Given the description of an element on the screen output the (x, y) to click on. 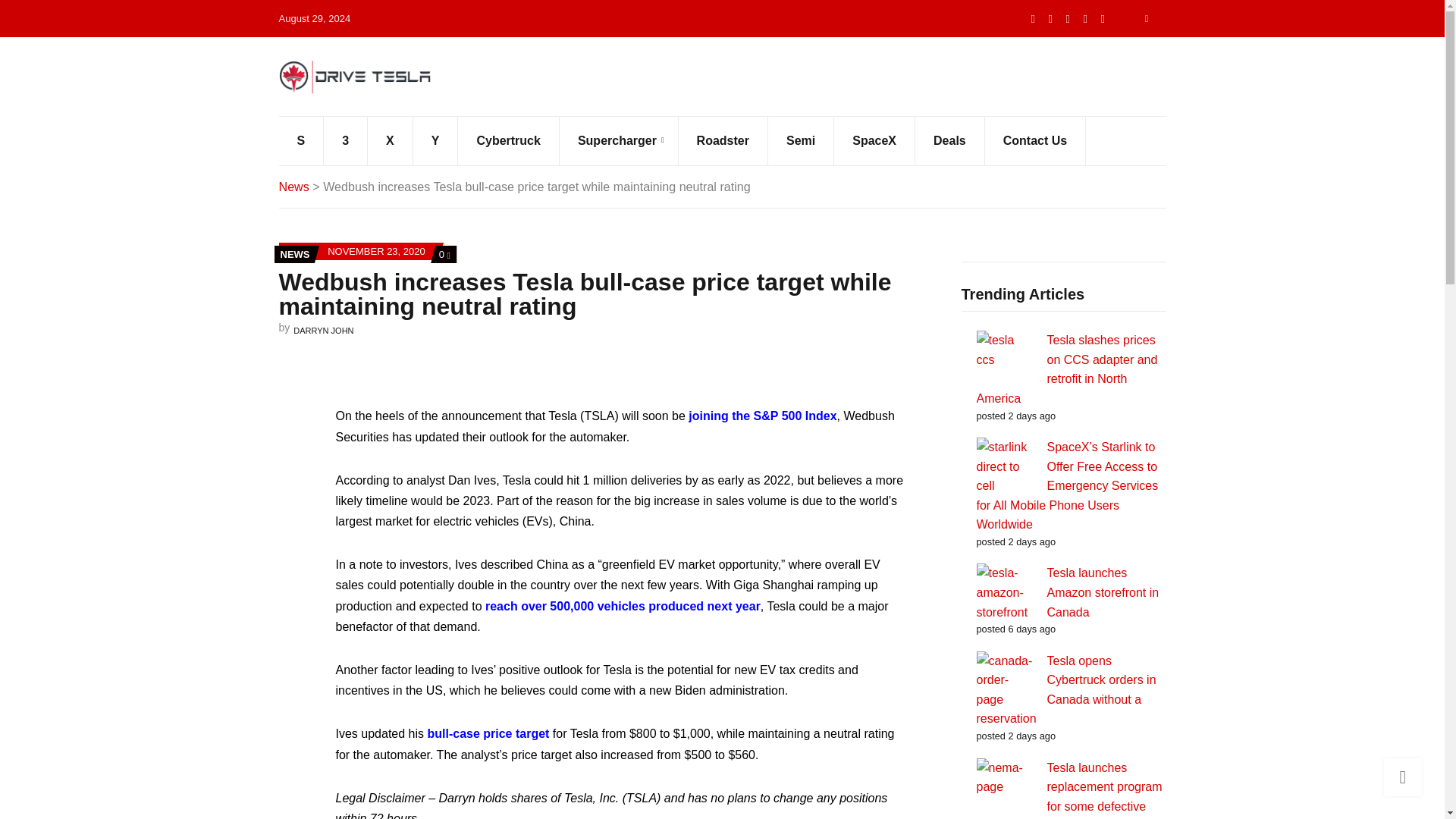
Supercharger (618, 141)
3 (345, 141)
bull-case price target (487, 733)
Deals (950, 141)
Facebook (1068, 18)
Go to the News category archives. (293, 186)
Y (435, 141)
SpaceX (874, 141)
NEWS (295, 254)
